Given the description of an element on the screen output the (x, y) to click on. 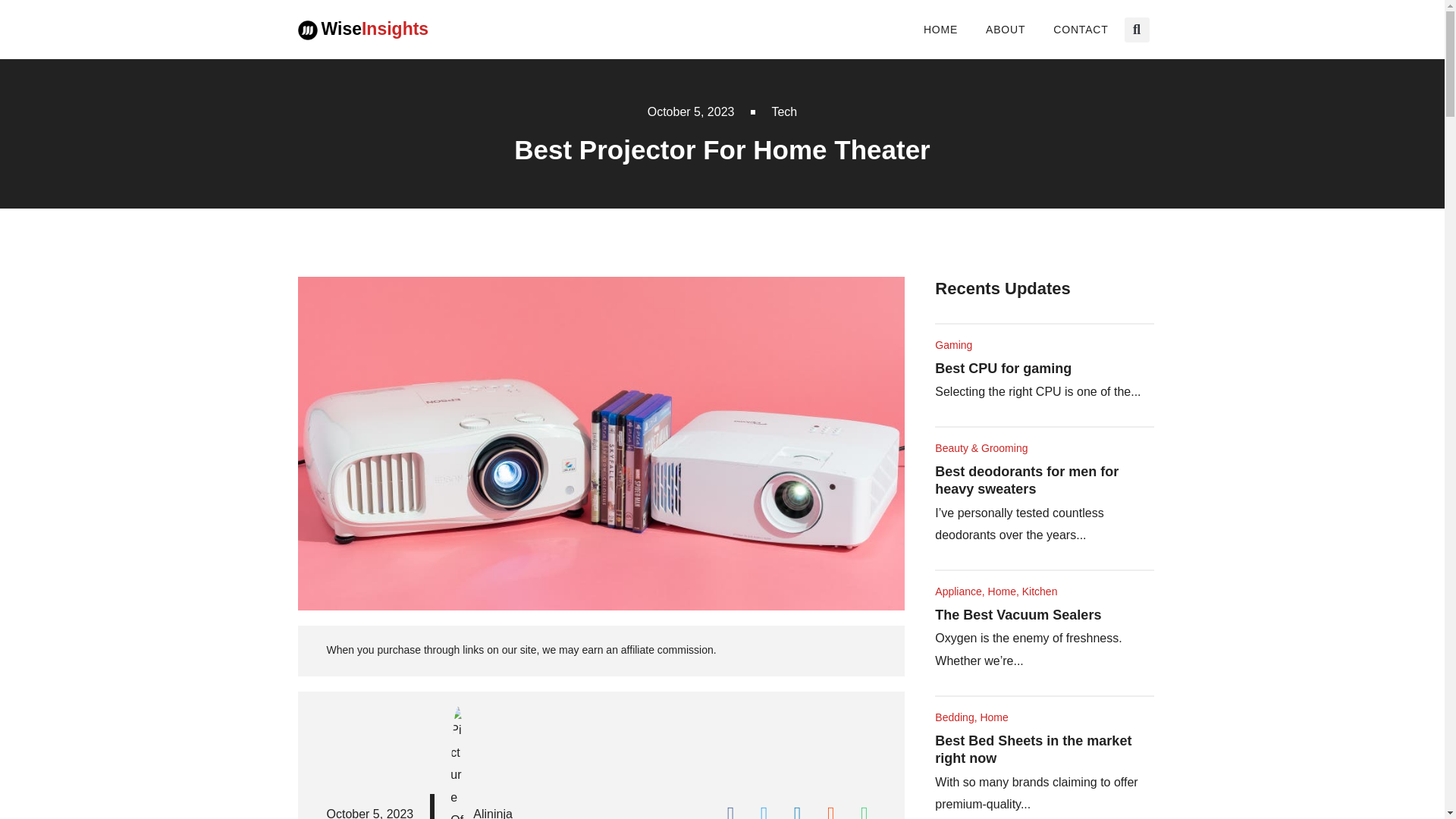
WiseInsights (375, 28)
Tech (783, 111)
Best CPU for gaming (1002, 368)
CONTACT (1080, 29)
HOME (940, 29)
Best deodorants for men for heavy sweaters (1026, 480)
Best Bed Sheets in the market right now (1032, 749)
ABOUT (1005, 29)
The Best Vacuum Sealers (1017, 614)
